Given the description of an element on the screen output the (x, y) to click on. 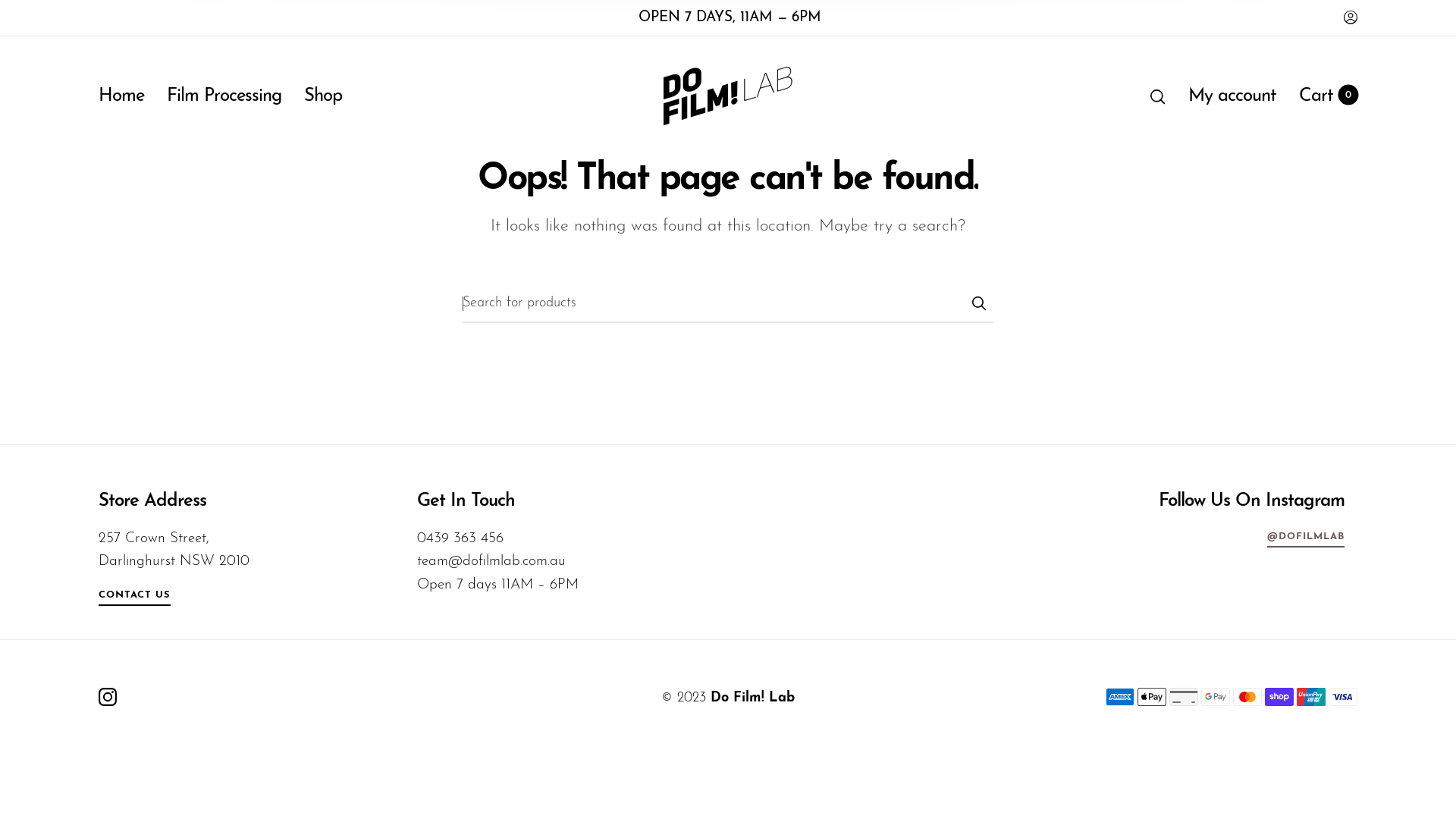
dofilmlab on Instagram Element type: hover (107, 696)
Film Processing Element type: text (223, 96)
Home Element type: text (121, 96)
team@dofilmlab.com.au Element type: text (491, 561)
Cart
0 Element type: text (1328, 96)
My account Element type: text (1232, 96)
CONTACT US Element type: text (134, 597)
Submit Element type: text (978, 303)
@DOFILMLAB Element type: text (1305, 539)
Shop Element type: text (323, 96)
